Given the description of an element on the screen output the (x, y) to click on. 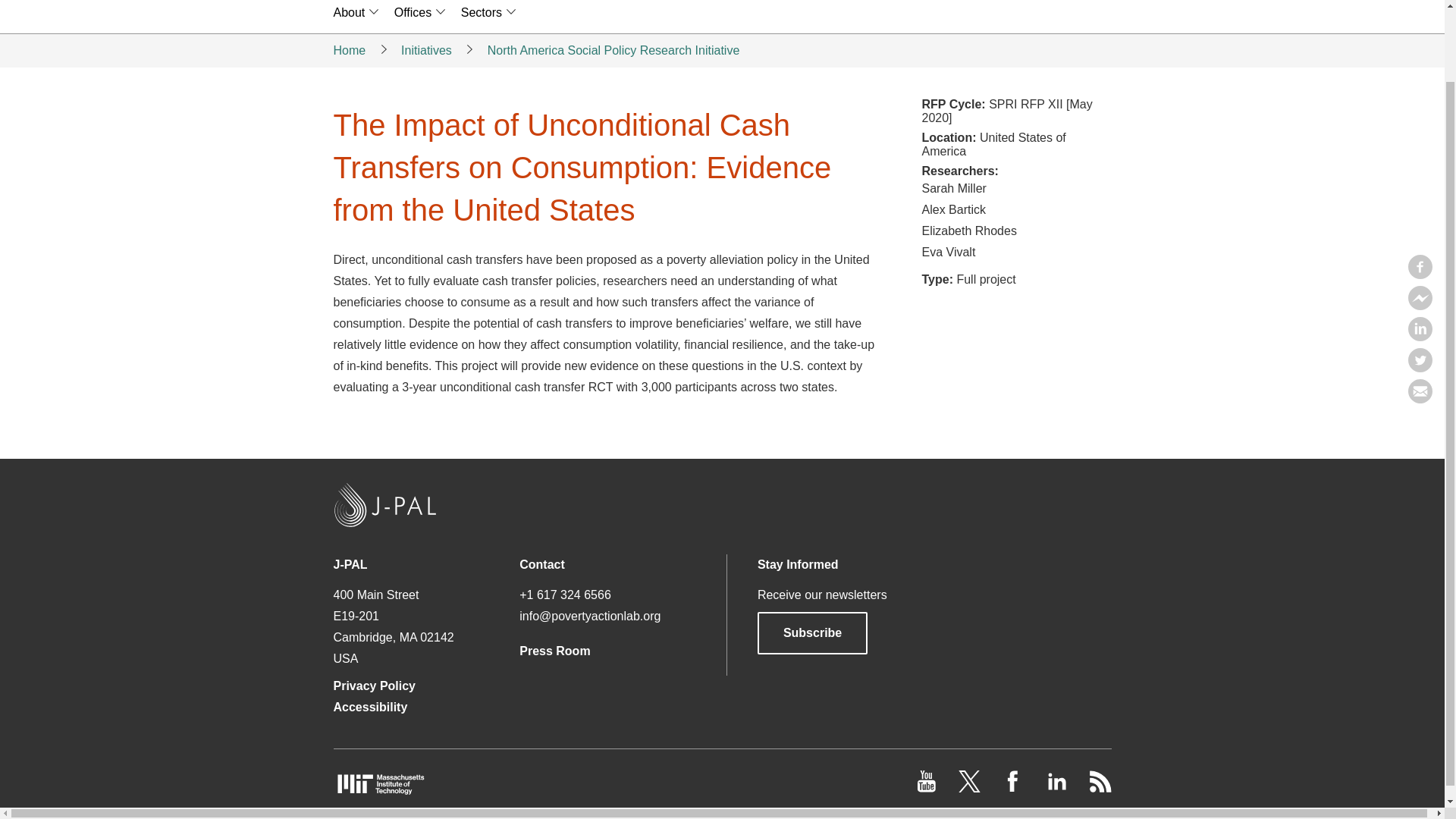
youtube (927, 788)
Linkedin (1419, 254)
Facebook messenger (1419, 223)
LinkedIn (1057, 788)
rss feed (1099, 788)
Facebook (1419, 192)
facebook (1015, 788)
twitter (971, 788)
Twitter (1419, 285)
Email (1419, 317)
